Given the description of an element on the screen output the (x, y) to click on. 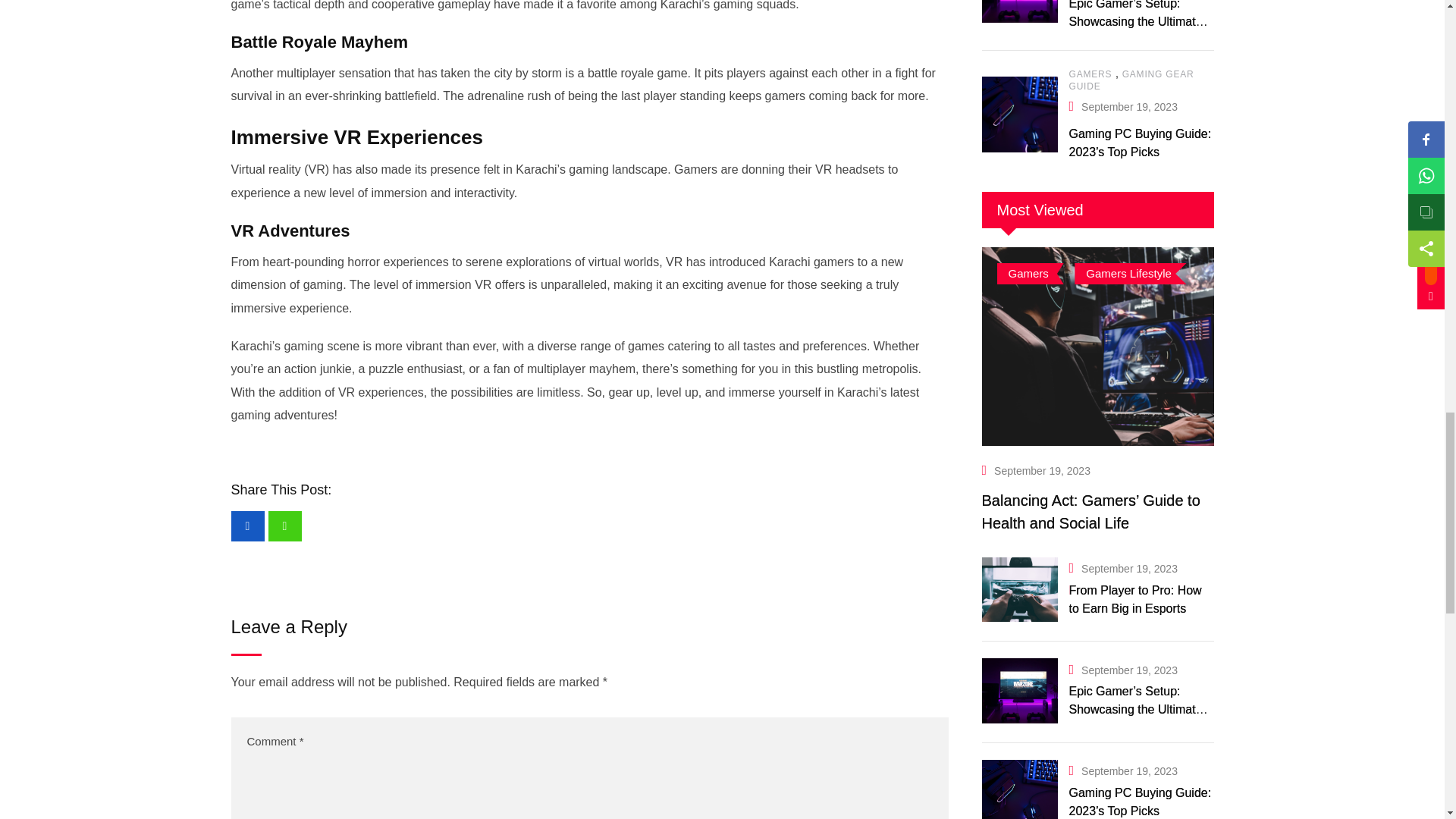
From Player to Pro: How to Earn Big in Esports (1019, 589)
